Given the description of an element on the screen output the (x, y) to click on. 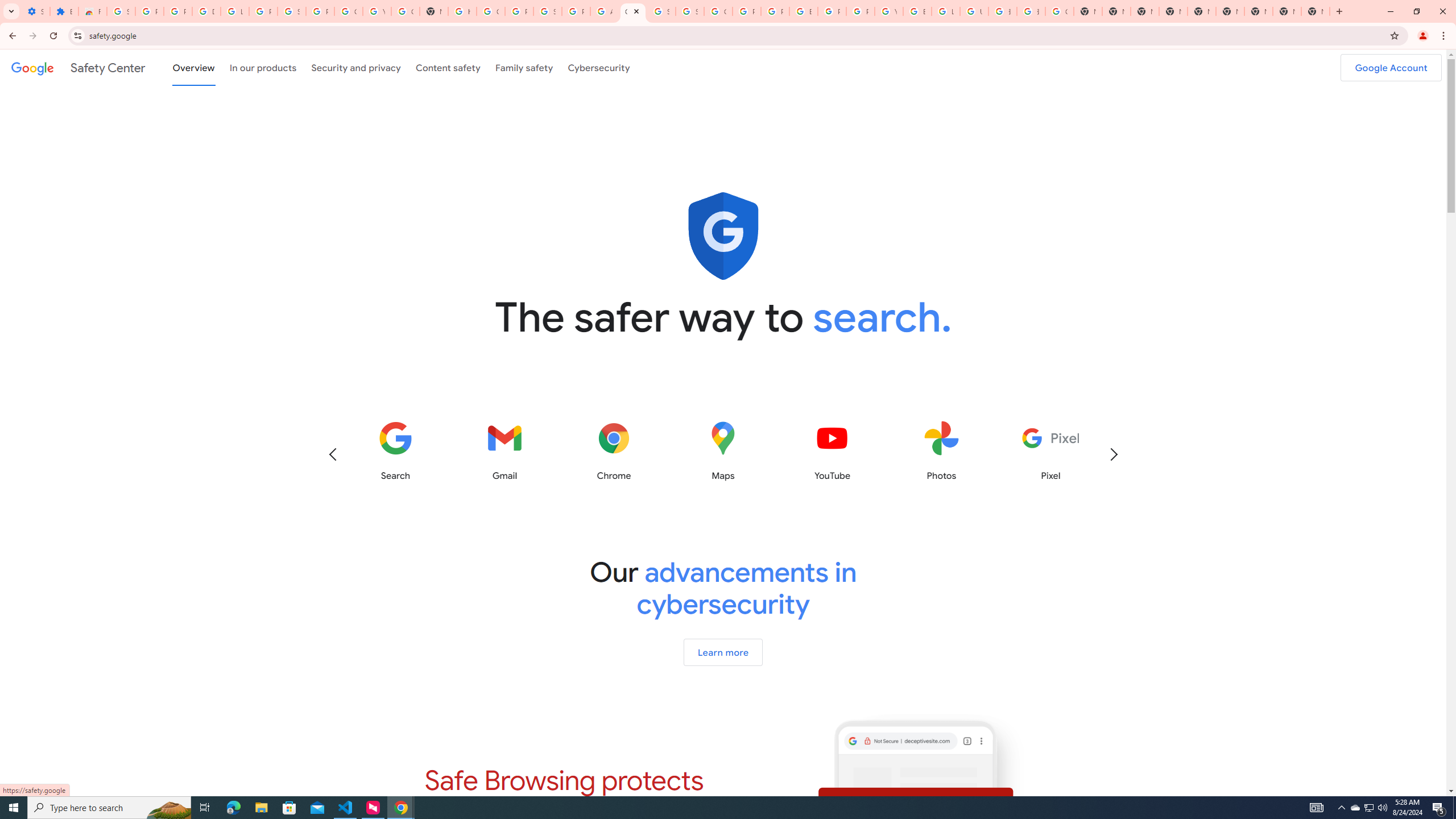
Learn more (722, 651)
Content safety (447, 67)
In our products (262, 67)
